Given the description of an element on the screen output the (x, y) to click on. 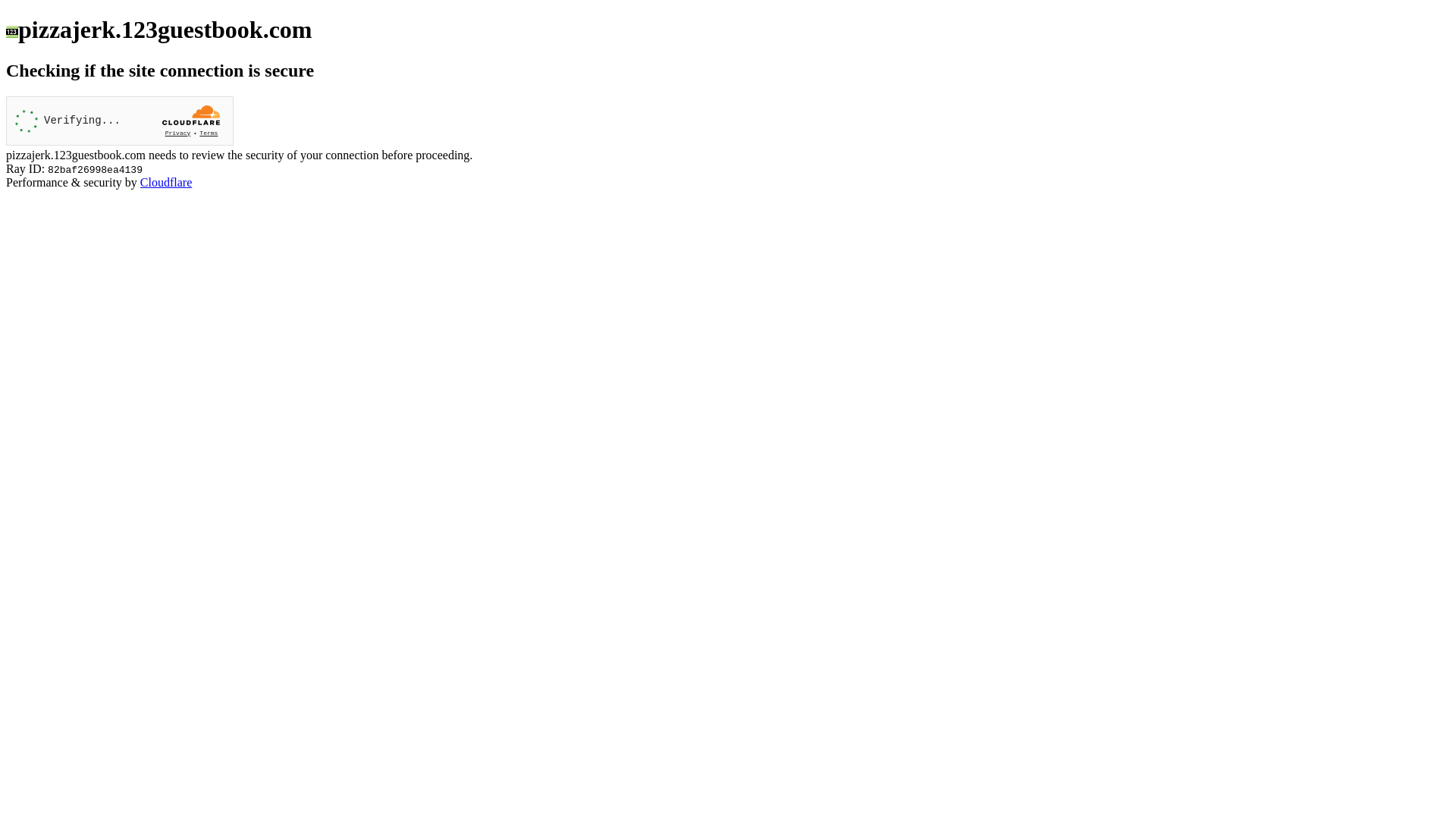
Widget containing a Cloudflare security challenge Element type: hover (119, 120)
Cloudflare Element type: text (165, 181)
